Given the description of an element on the screen output the (x, y) to click on. 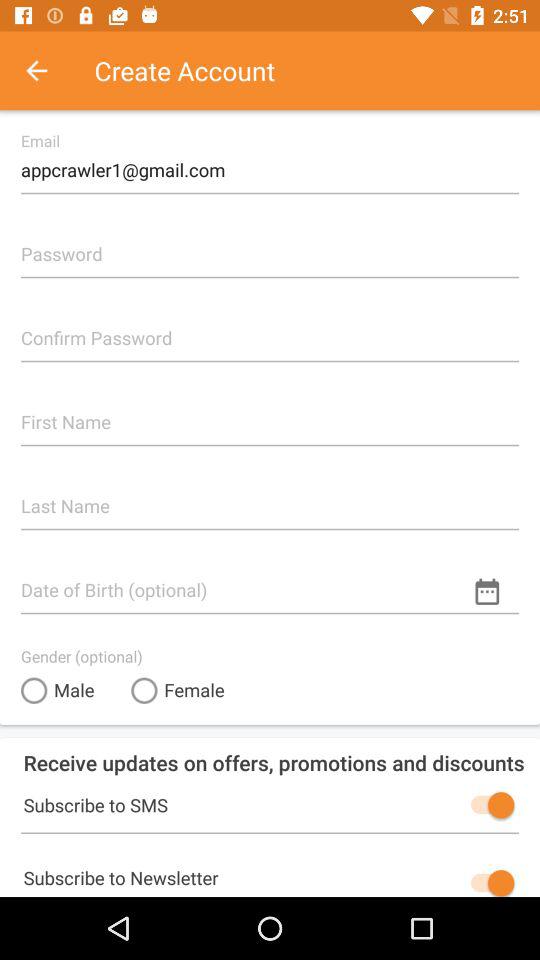
launch item above receive updates on item (57, 690)
